Given the description of an element on the screen output the (x, y) to click on. 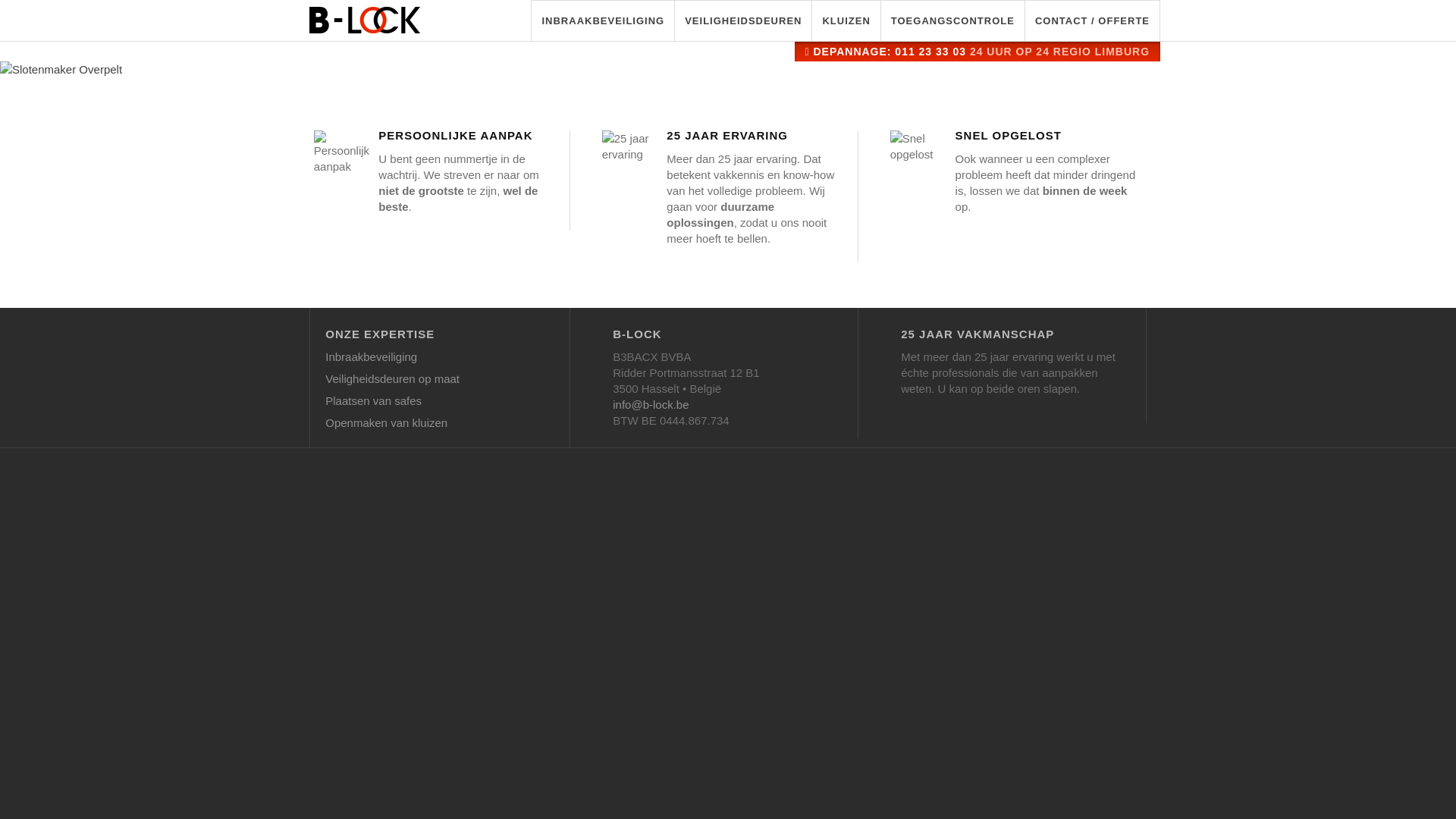
Veiligheidsdeuren op maat Element type: text (439, 381)
INBRAAKBEVEILIGING Element type: text (602, 20)
VEILIGHEIDSDEUREN Element type: text (742, 20)
CONTACT / OFFERTE Element type: text (1091, 20)
info@b-lock.be Element type: text (726, 404)
Plaatsen van safes Element type: text (439, 403)
KLUIZEN Element type: text (845, 20)
Inbraakbeveiliging Element type: text (439, 359)
Openmaken van kluizen Element type: text (439, 425)
TOEGANGSCONTROLE Element type: text (952, 20)
